Given the description of an element on the screen output the (x, y) to click on. 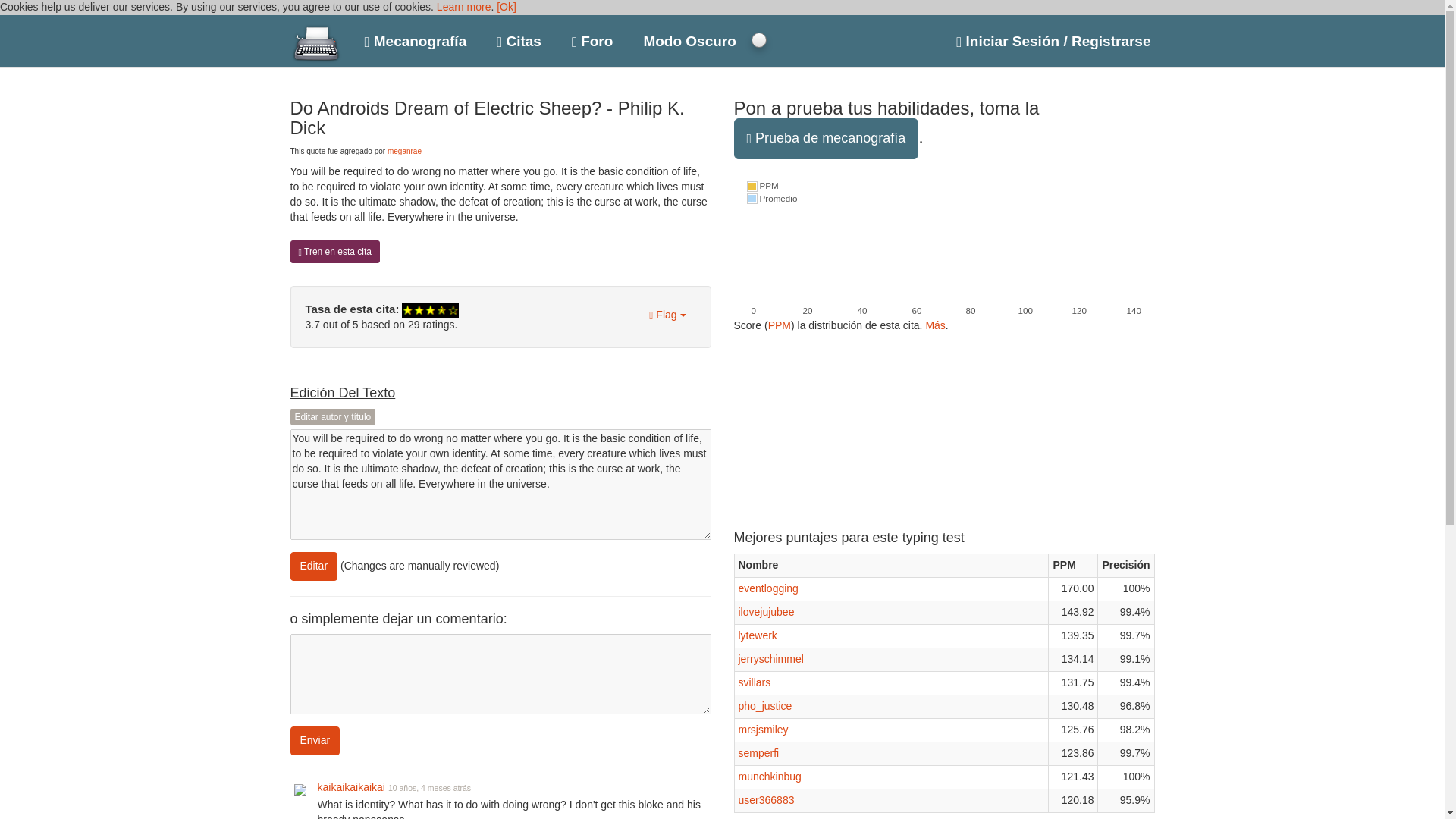
eventlogging (767, 588)
Flag (667, 315)
Foro (591, 37)
Enviar (314, 740)
ilovejujubee (766, 612)
munchkinbug (770, 776)
Click on the star to rate (429, 309)
lytewerk (757, 635)
kaikaikaikaikai (350, 787)
3rd party ad content (846, 428)
semperfi (758, 752)
meganrae (404, 151)
svillars (754, 682)
Citas (518, 37)
Enviar (314, 740)
